Given the description of an element on the screen output the (x, y) to click on. 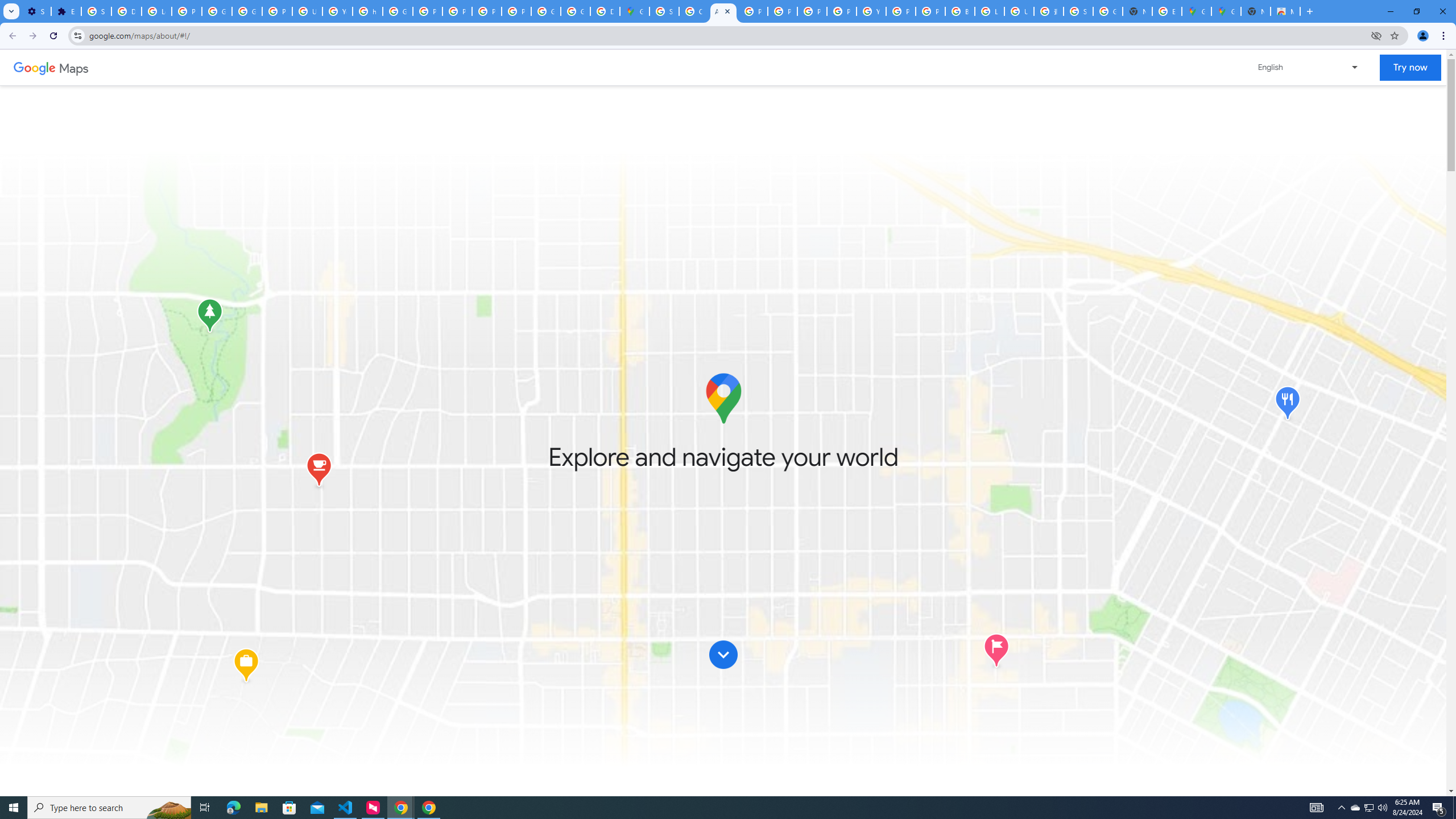
Privacy Help Center - Policies Help (782, 11)
Sign in - Google Accounts (95, 11)
Google Maps (1226, 11)
Explore new street-level details - Google Maps Help (1166, 11)
Google Account Help (247, 11)
Privacy Help Center - Policies Help (426, 11)
Policy Accountability and Transparency - Transparency Center (753, 11)
Google Maps (1196, 11)
Third-party cookies blocked (1376, 35)
